Given the description of an element on the screen output the (x, y) to click on. 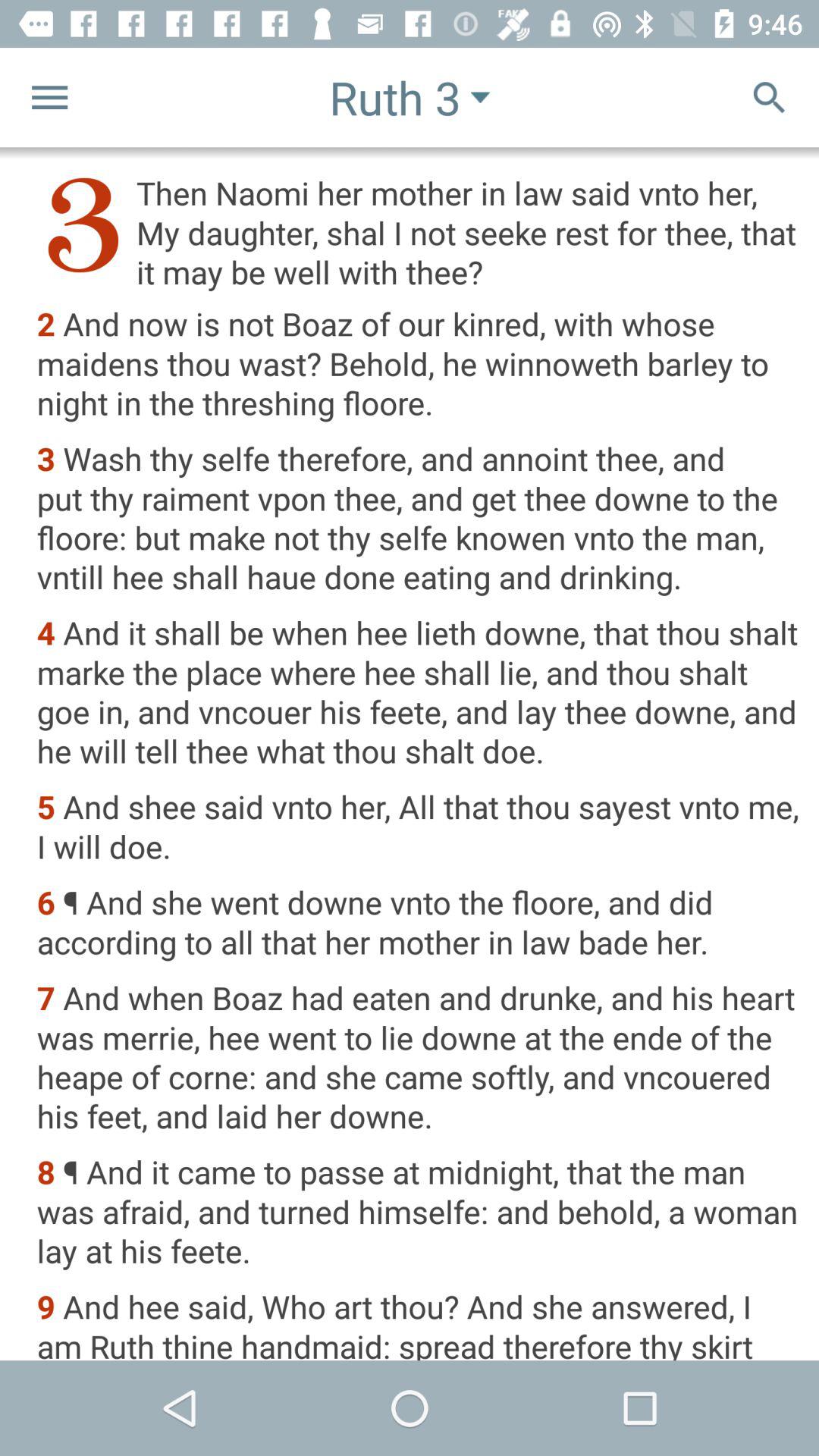
open item above the 2 and now icon (417, 232)
